Given the description of an element on the screen output the (x, y) to click on. 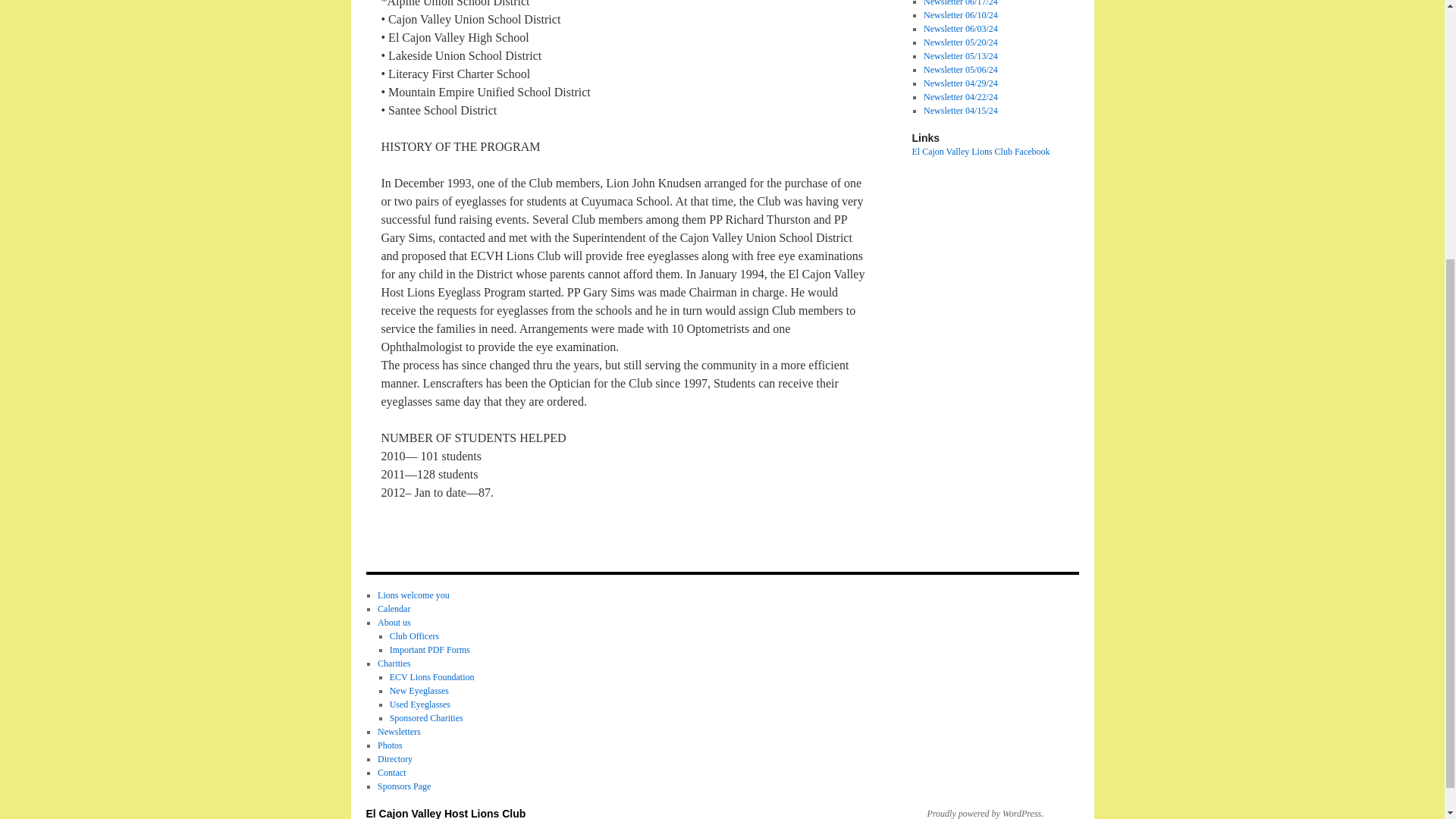
Charities (393, 663)
About us (393, 622)
El Cajon Valley Lions Club Facebook (980, 151)
New Eyeglasses (419, 690)
Used Eyeglasses (419, 704)
Important PDF Forms (430, 649)
Calendar (393, 608)
ECV Lions Foundation (432, 676)
Club Officers (414, 635)
Lions welcome you (413, 594)
